Given the description of an element on the screen output the (x, y) to click on. 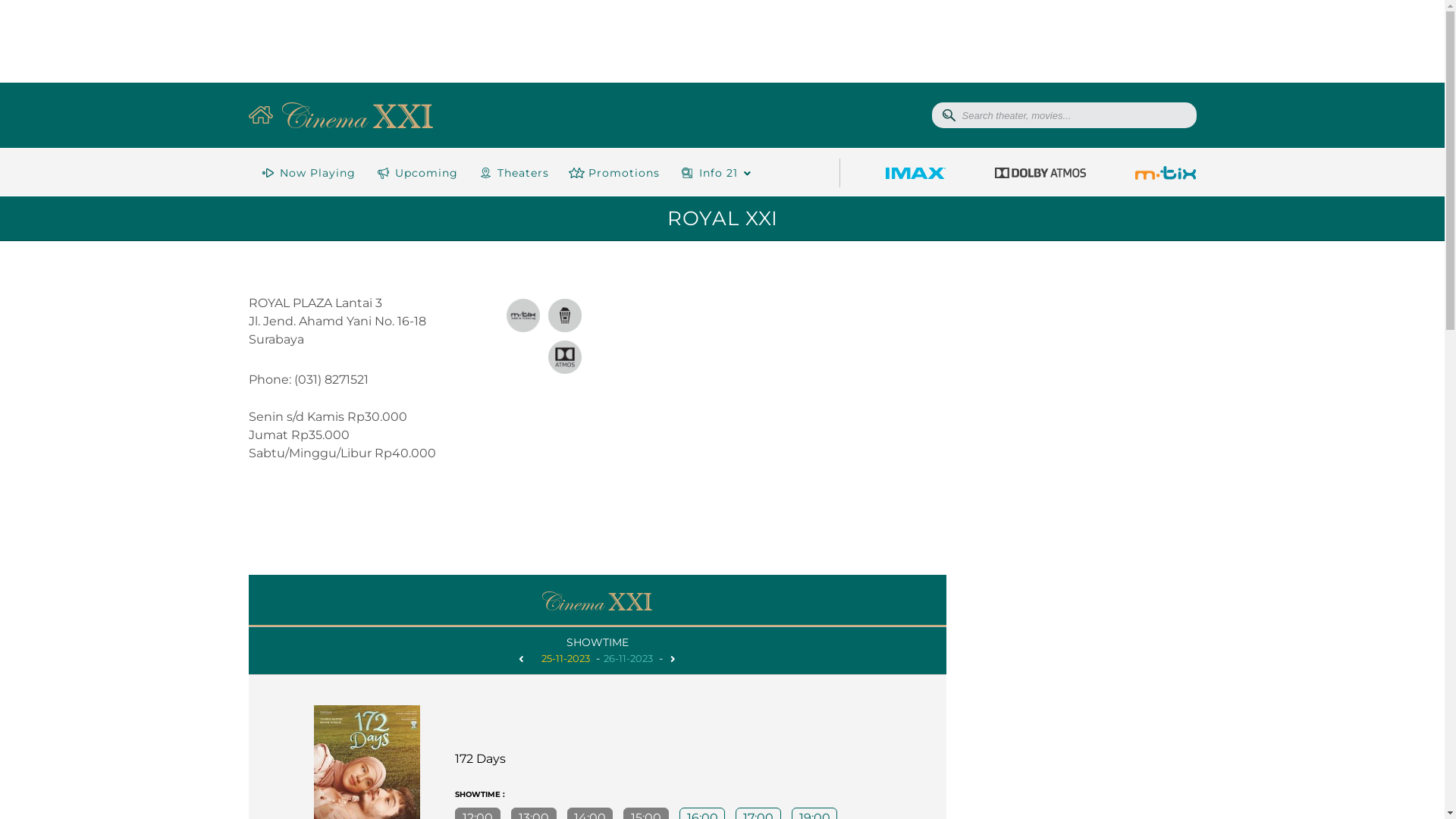
Advertisement Element type: hover (1082, 576)
Now Playing Element type: text (307, 172)
Promotions Element type: text (612, 172)
Advertisement Element type: hover (721, 40)
25-11-2023 Element type: text (565, 658)
Upcoming Element type: text (415, 172)
Info 21 Element type: text (714, 172)
Advertisement Element type: hover (1082, 366)
Theaters Element type: text (511, 172)
26-11-2023 Element type: text (627, 658)
